Given the description of an element on the screen output the (x, y) to click on. 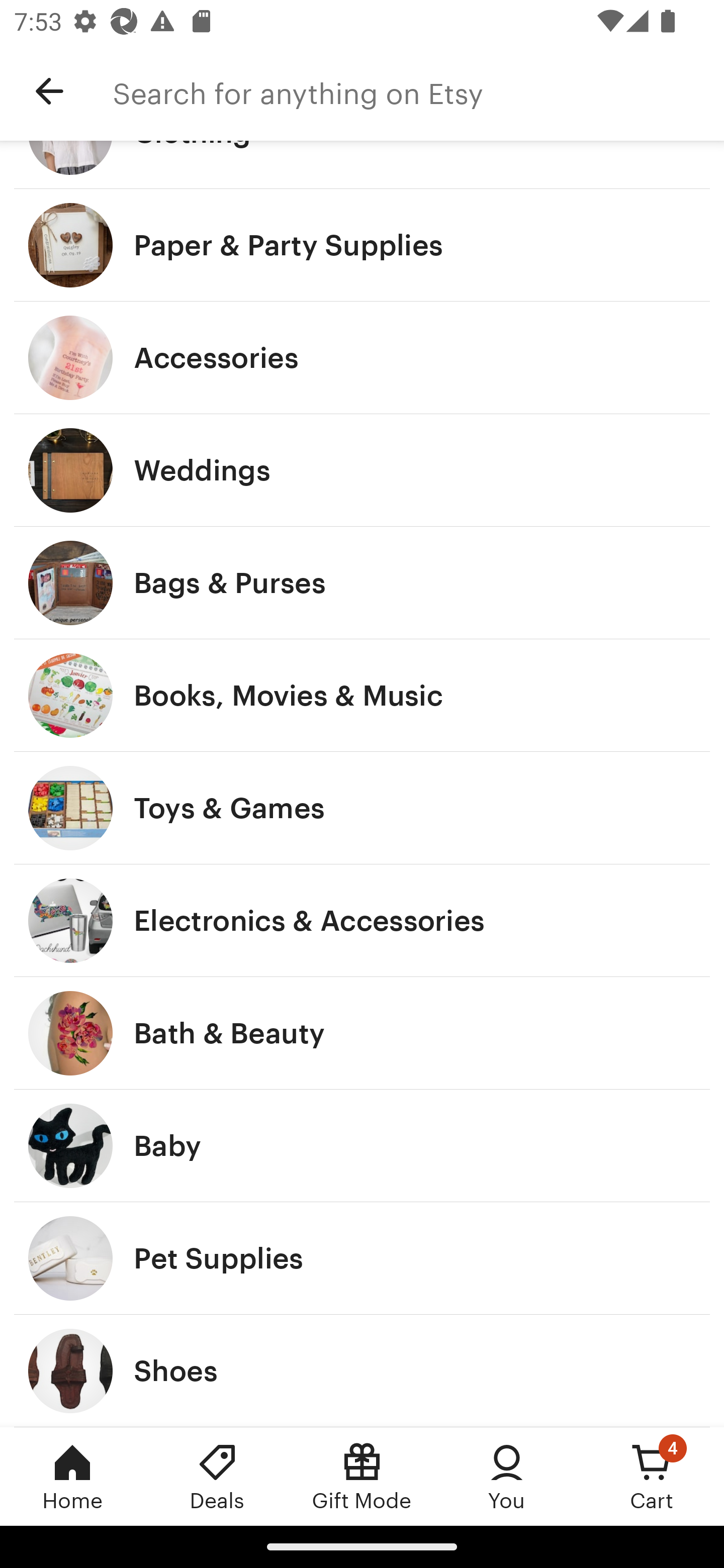
Navigate up (49, 91)
Search for anything on Etsy (418, 91)
Paper & Party Supplies (361, 245)
Accessories (361, 357)
Weddings (361, 469)
Bags & Purses (361, 582)
Books, Movies & Music (361, 695)
Toys & Games (361, 807)
Electronics & Accessories (361, 919)
Bath & Beauty (361, 1032)
Baby (361, 1145)
Pet Supplies (361, 1257)
Shoes (361, 1369)
Deals (216, 1475)
Gift Mode (361, 1475)
You (506, 1475)
Cart, 4 new notifications Cart (651, 1475)
